Given the description of an element on the screen output the (x, y) to click on. 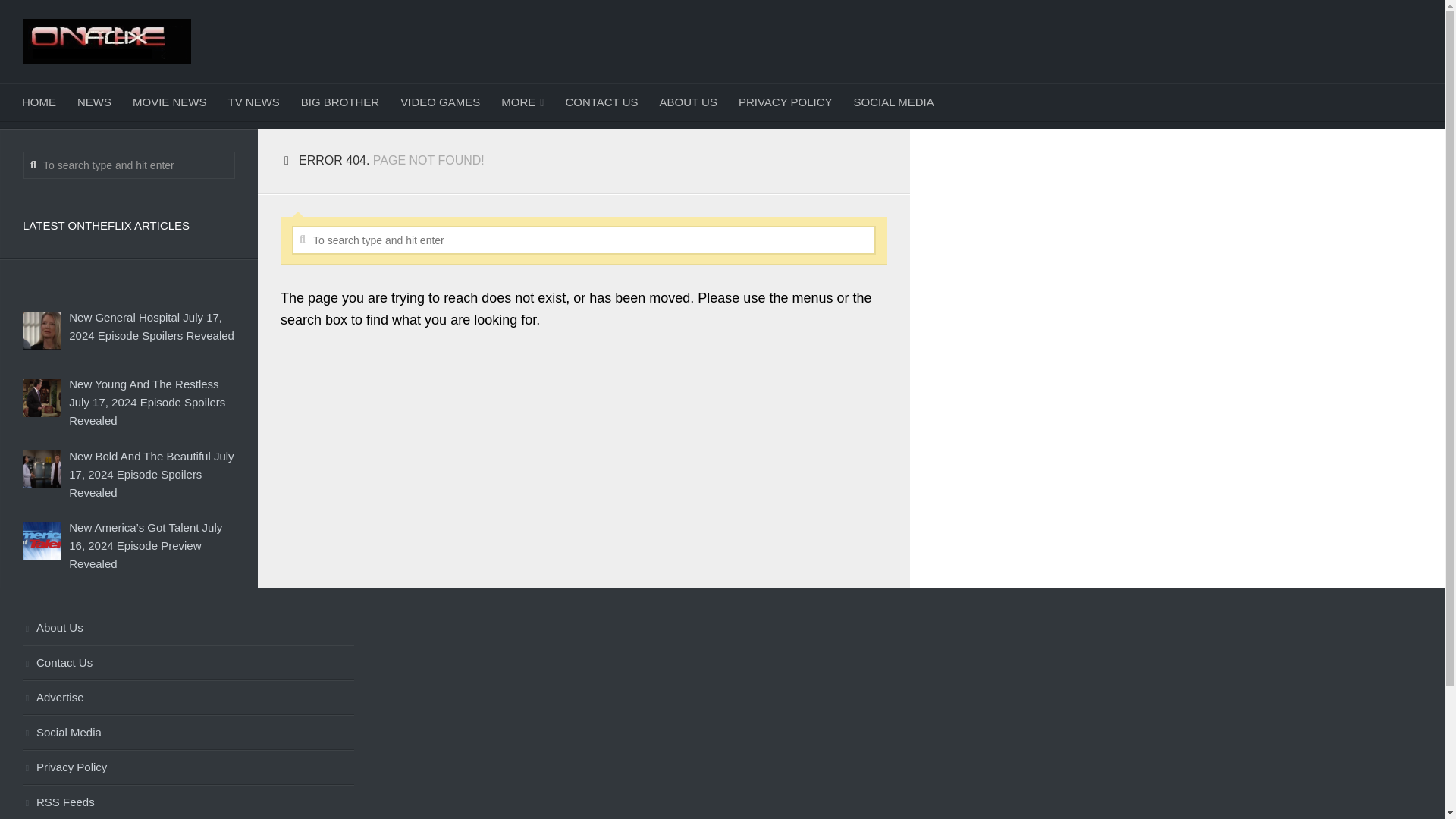
About Us (188, 628)
ABOUT US (688, 102)
To search type and hit enter (584, 240)
New General Hospital July 17, 2024 Episode Spoilers Revealed (151, 326)
BIG BROTHER (339, 102)
MOVIE NEWS (169, 102)
PRIVACY POLICY (785, 102)
MORE (522, 102)
Contact Us (188, 663)
To search type and hit enter (128, 165)
TV NEWS (252, 102)
NEWS (94, 102)
SOCIAL MEDIA (893, 102)
CONTACT US (600, 102)
